Given the description of an element on the screen output the (x, y) to click on. 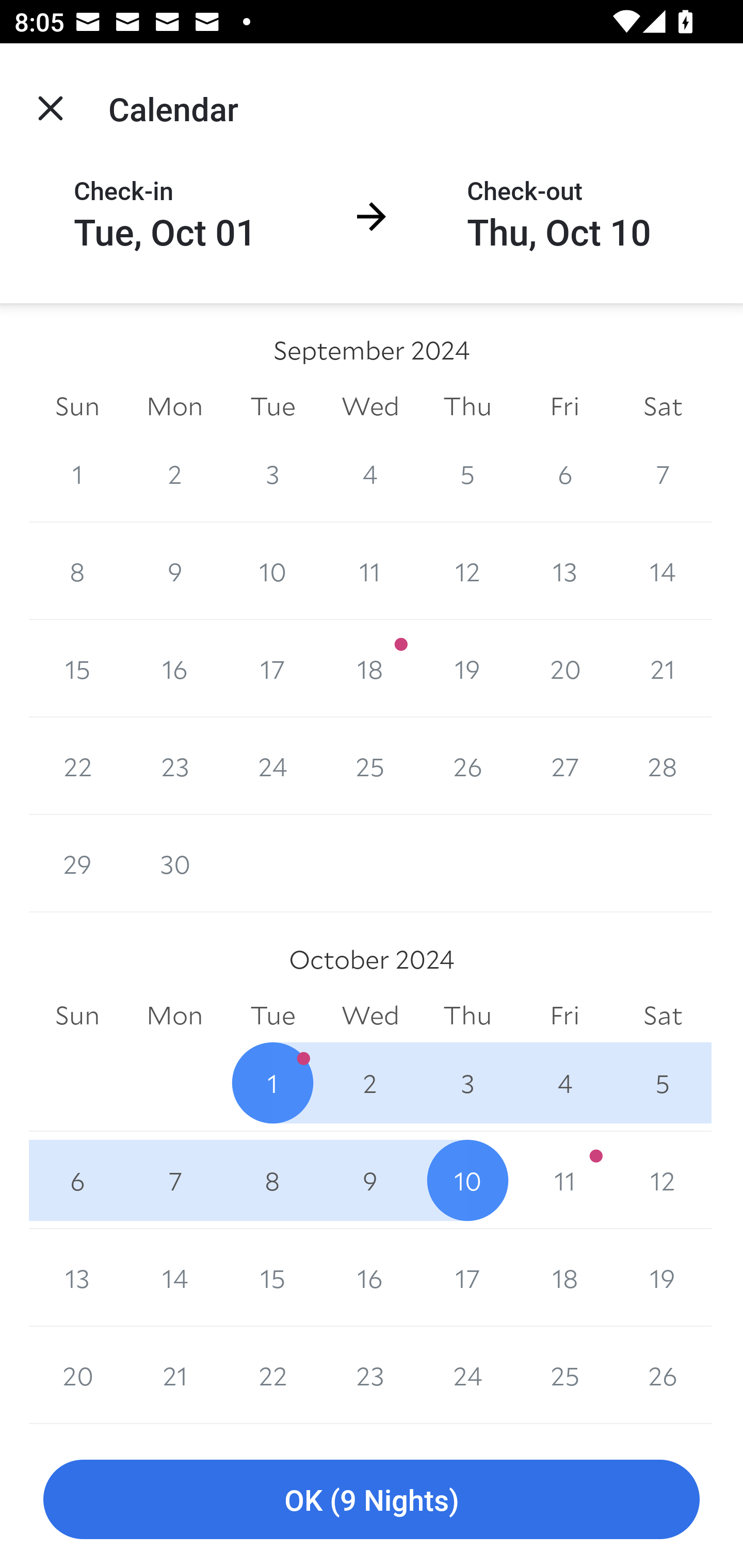
Sun (77, 405)
Mon (174, 405)
Tue (272, 405)
Wed (370, 405)
Thu (467, 405)
Fri (564, 405)
Sat (662, 405)
1 1 September 2024 (77, 473)
2 2 September 2024 (174, 473)
3 3 September 2024 (272, 473)
4 4 September 2024 (370, 473)
5 5 September 2024 (467, 473)
6 6 September 2024 (564, 473)
7 7 September 2024 (662, 473)
8 8 September 2024 (77, 570)
9 9 September 2024 (174, 570)
10 10 September 2024 (272, 570)
11 11 September 2024 (370, 570)
12 12 September 2024 (467, 570)
13 13 September 2024 (564, 570)
14 14 September 2024 (662, 570)
15 15 September 2024 (77, 668)
16 16 September 2024 (174, 668)
17 17 September 2024 (272, 668)
18 18 September 2024 (370, 668)
19 19 September 2024 (467, 668)
20 20 September 2024 (564, 668)
21 21 September 2024 (662, 668)
22 22 September 2024 (77, 766)
23 23 September 2024 (174, 766)
24 24 September 2024 (272, 766)
25 25 September 2024 (370, 766)
26 26 September 2024 (467, 766)
27 27 September 2024 (564, 766)
28 28 September 2024 (662, 766)
29 29 September 2024 (77, 863)
30 30 September 2024 (174, 863)
Sun (77, 1015)
Mon (174, 1015)
Tue (272, 1015)
Wed (370, 1015)
Thu (467, 1015)
Fri (564, 1015)
Sat (662, 1015)
1 1 October 2024 (272, 1083)
2 2 October 2024 (370, 1083)
3 3 October 2024 (467, 1083)
4 4 October 2024 (564, 1083)
5 5 October 2024 (662, 1083)
6 6 October 2024 (77, 1180)
7 7 October 2024 (174, 1180)
8 8 October 2024 (272, 1180)
9 9 October 2024 (370, 1180)
10 10 October 2024 (467, 1180)
11 11 October 2024 (564, 1180)
12 12 October 2024 (662, 1180)
13 13 October 2024 (77, 1277)
14 14 October 2024 (174, 1277)
15 15 October 2024 (272, 1277)
16 16 October 2024 (370, 1277)
17 17 October 2024 (467, 1277)
18 18 October 2024 (564, 1277)
19 19 October 2024 (662, 1277)
20 20 October 2024 (77, 1374)
21 21 October 2024 (174, 1374)
22 22 October 2024 (272, 1374)
23 23 October 2024 (370, 1374)
24 24 October 2024 (467, 1374)
25 25 October 2024 (564, 1374)
26 26 October 2024 (662, 1374)
OK (9 Nights) (371, 1499)
